Given the description of an element on the screen output the (x, y) to click on. 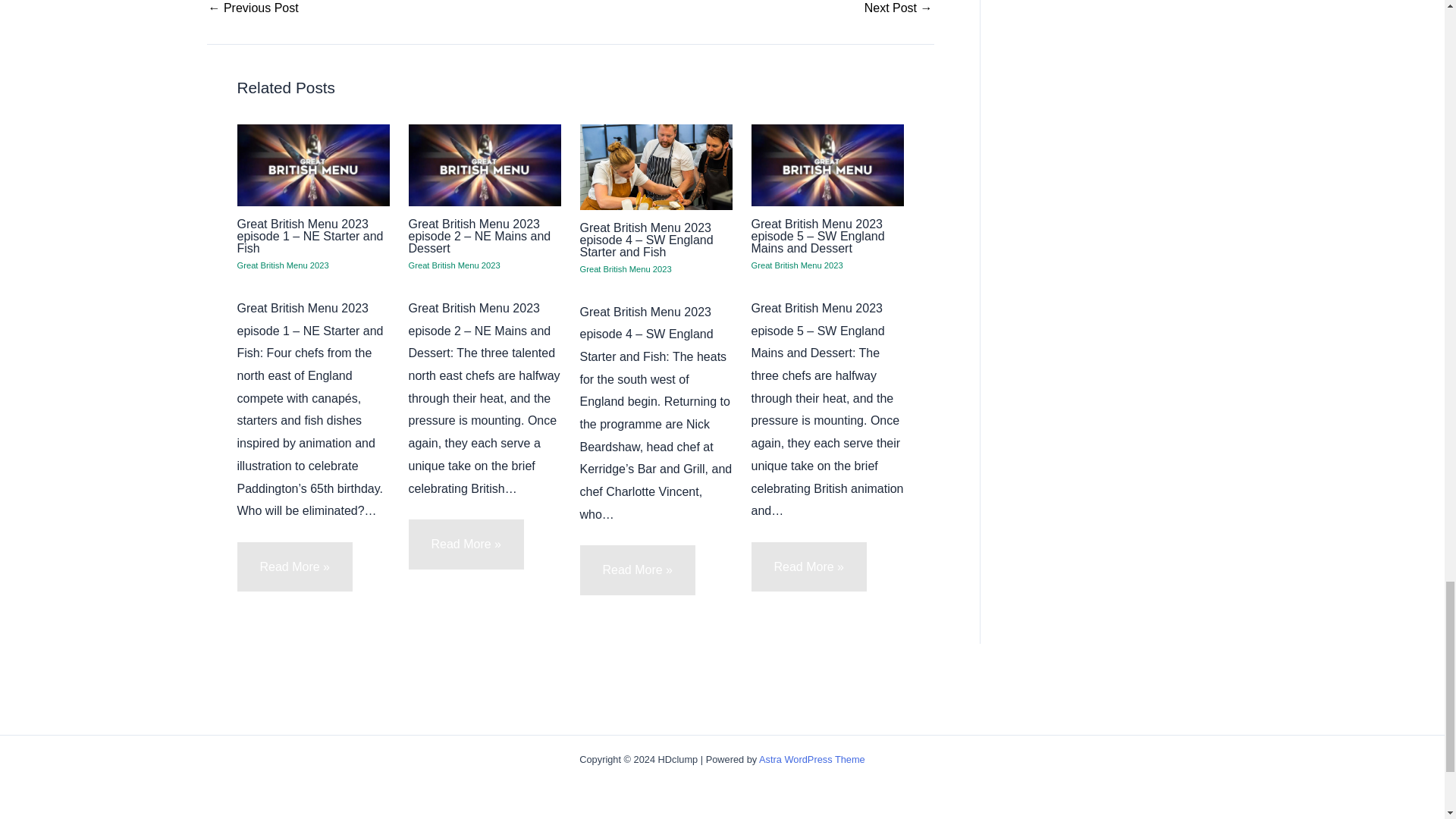
Young MasterChef 2023 episode 6 (898, 8)
Junior Bake Off episode 14 2023 (253, 8)
